Given the description of an element on the screen output the (x, y) to click on. 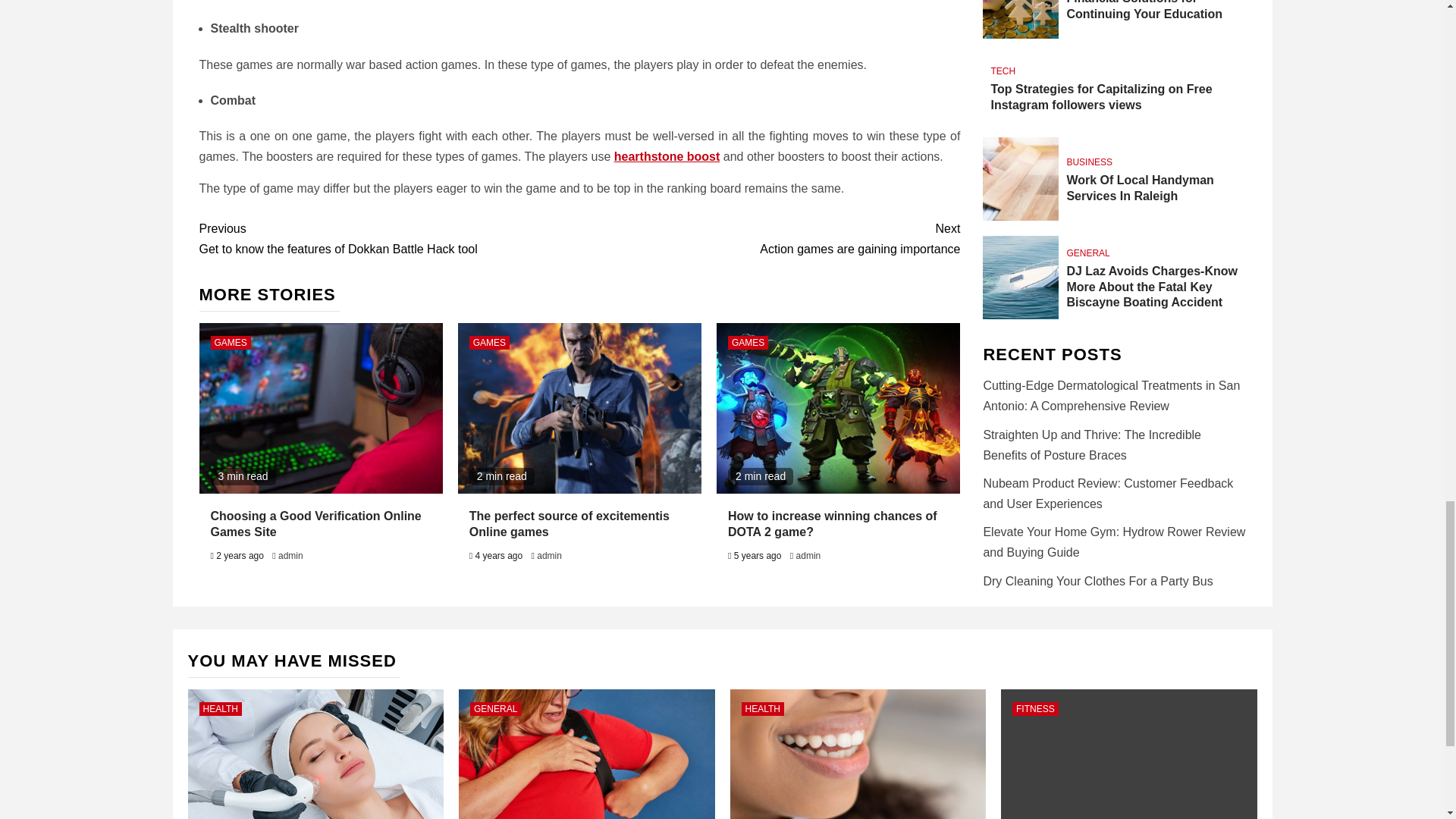
Choosing a Good Verification Online Games Site (316, 523)
GAMES (769, 238)
The perfect source of excitementis Online games (388, 238)
admin (748, 342)
GAMES (568, 523)
admin (549, 555)
hearthstone boost (230, 342)
GAMES (290, 555)
